Given the description of an element on the screen output the (x, y) to click on. 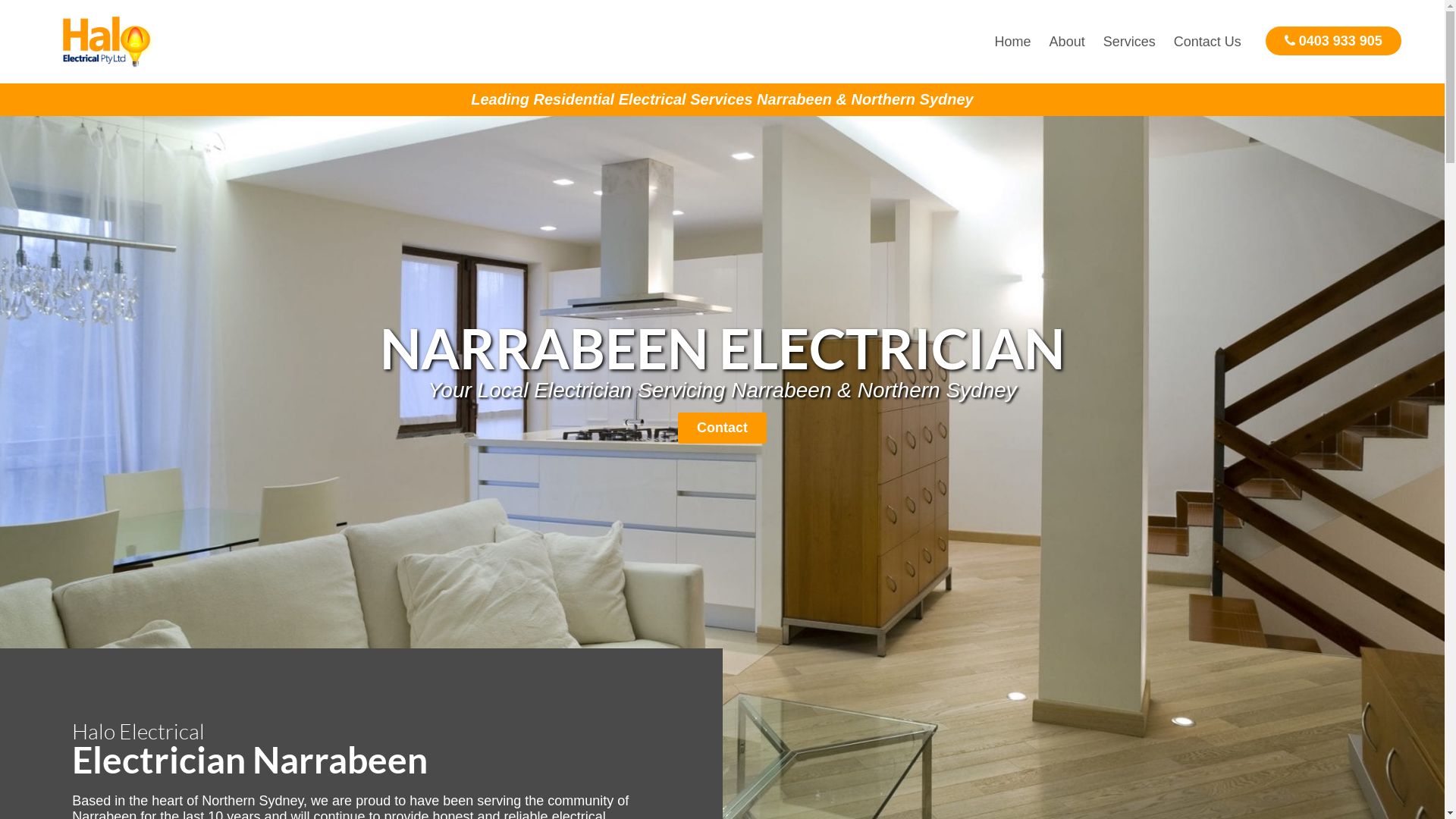
0403 933 905 Element type: text (1333, 40)
About Element type: text (1067, 41)
Contact Us Element type: text (1207, 41)
Home Element type: text (1012, 41)
Contact Element type: text (721, 427)
Services Element type: text (1129, 41)
